Given the description of an element on the screen output the (x, y) to click on. 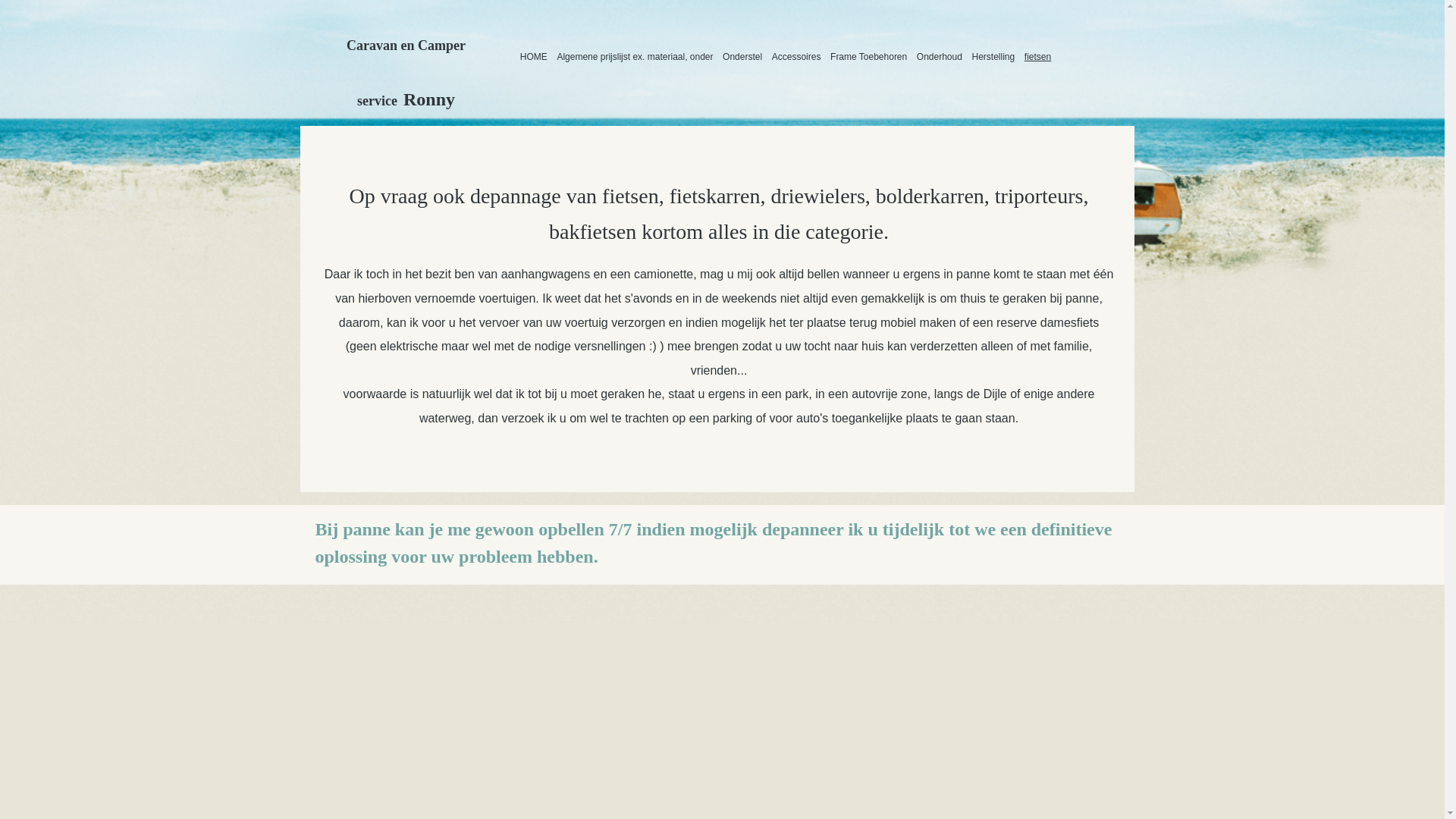
Algemene prijslijst ex. materiaal, onder Element type: text (635, 56)
Accessoires Element type: text (795, 56)
fietsen Element type: text (1037, 56)
HOME Element type: text (533, 56)
Frame Toebehoren Element type: text (868, 56)
Herstelling Element type: text (992, 56)
Onderstel Element type: text (742, 56)
Onderhoud Element type: text (939, 56)
